Given the description of an element on the screen output the (x, y) to click on. 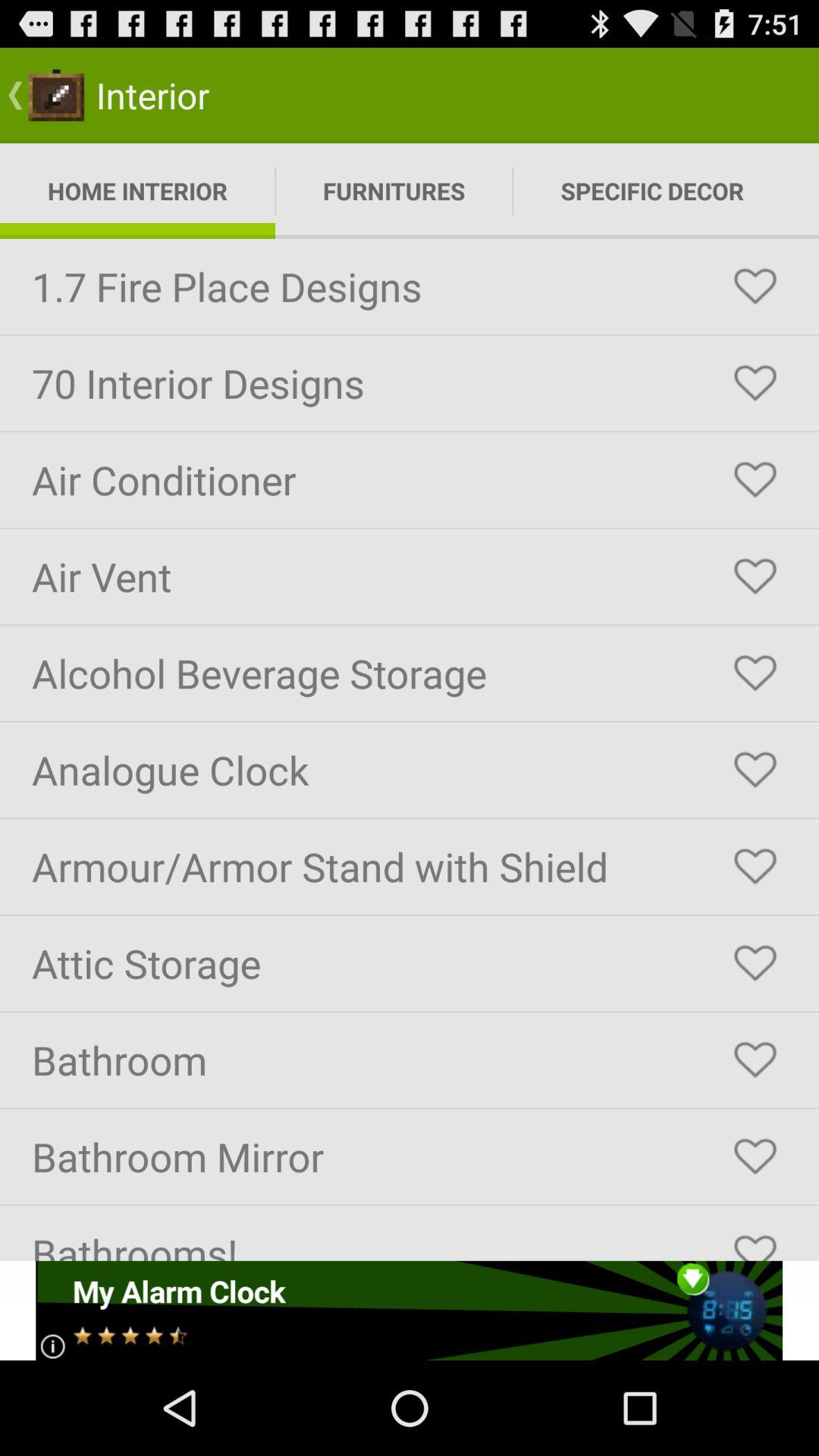
add to favorite (755, 1240)
